Given the description of an element on the screen output the (x, y) to click on. 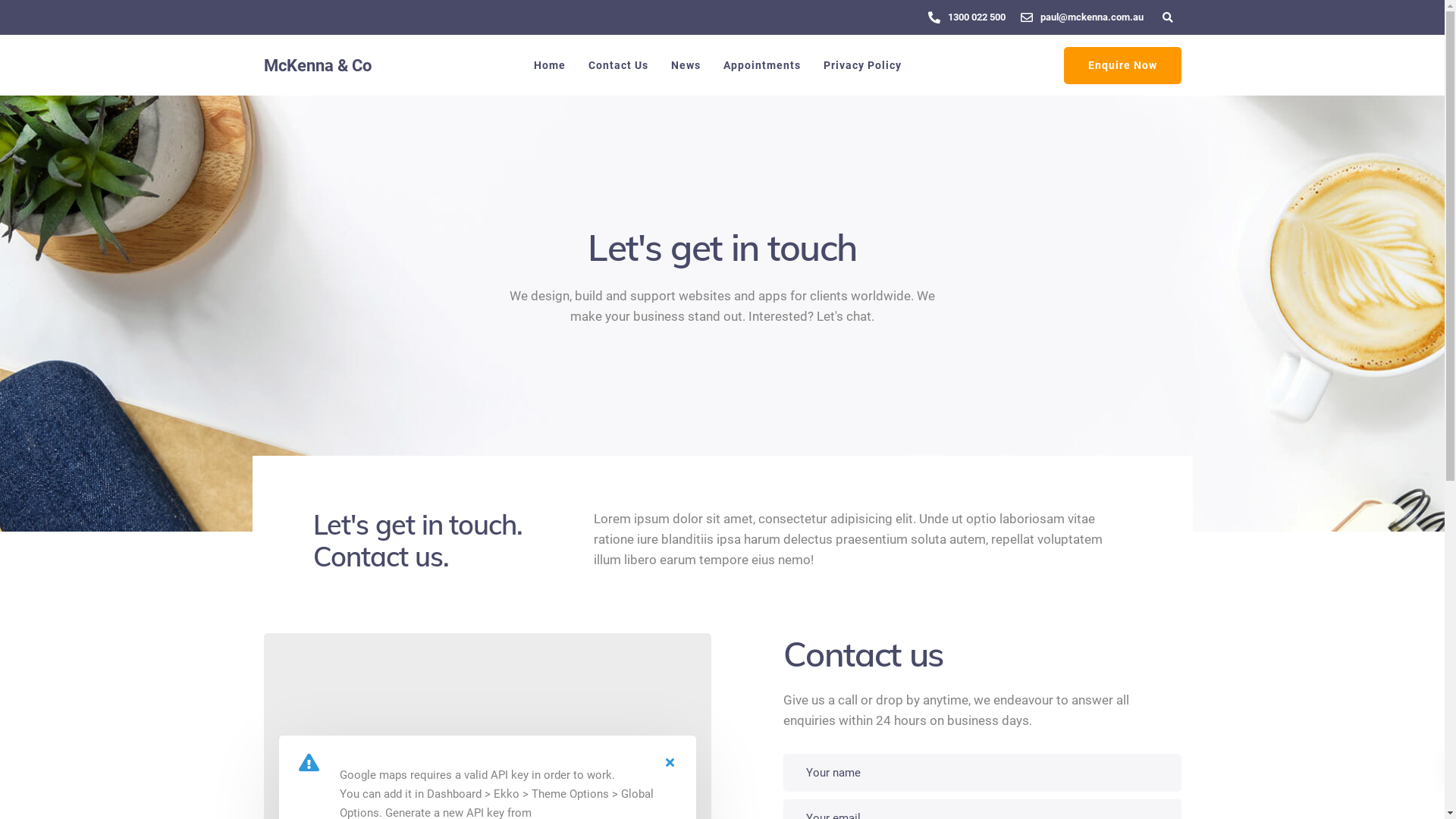
Enquire Now Element type: text (1121, 65)
News Element type: text (685, 64)
paul@mckenna.com.au Element type: text (1095, 16)
McKenna & Co Element type: text (317, 65)
Home Element type: text (548, 64)
Appointments Element type: text (761, 64)
Contact Us Element type: text (617, 64)
1300 022 500 Element type: text (980, 16)
Privacy Policy Element type: text (861, 64)
